Given the description of an element on the screen output the (x, y) to click on. 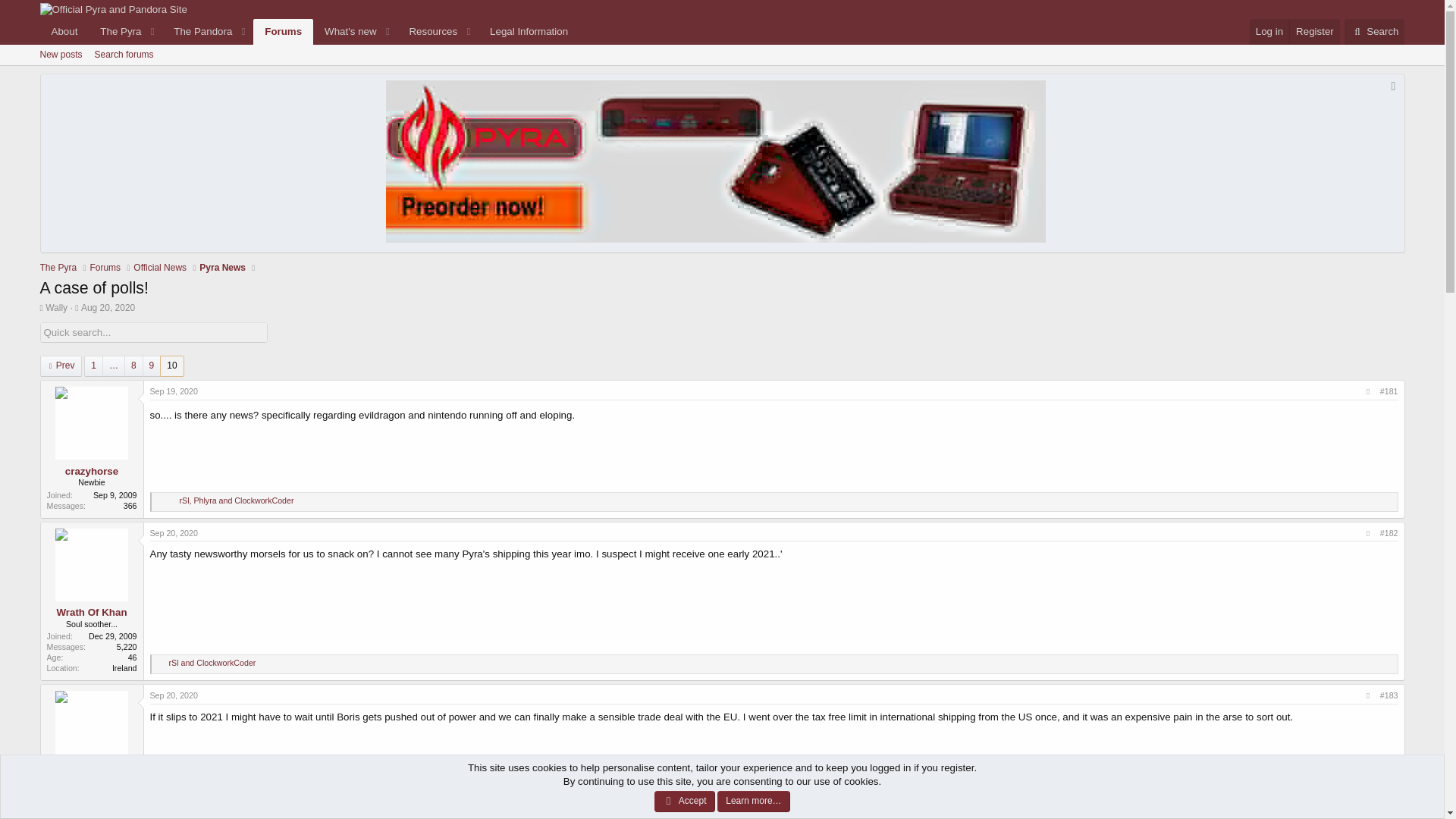
Sep 20, 2020 at 4:52 AM (173, 532)
Sep 20, 2020 at 7:47 AM (173, 695)
Search (1374, 31)
Haha (160, 501)
New posts (60, 55)
Resources (427, 31)
What's new (345, 31)
Like (160, 664)
Search (1374, 31)
